Given the description of an element on the screen output the (x, y) to click on. 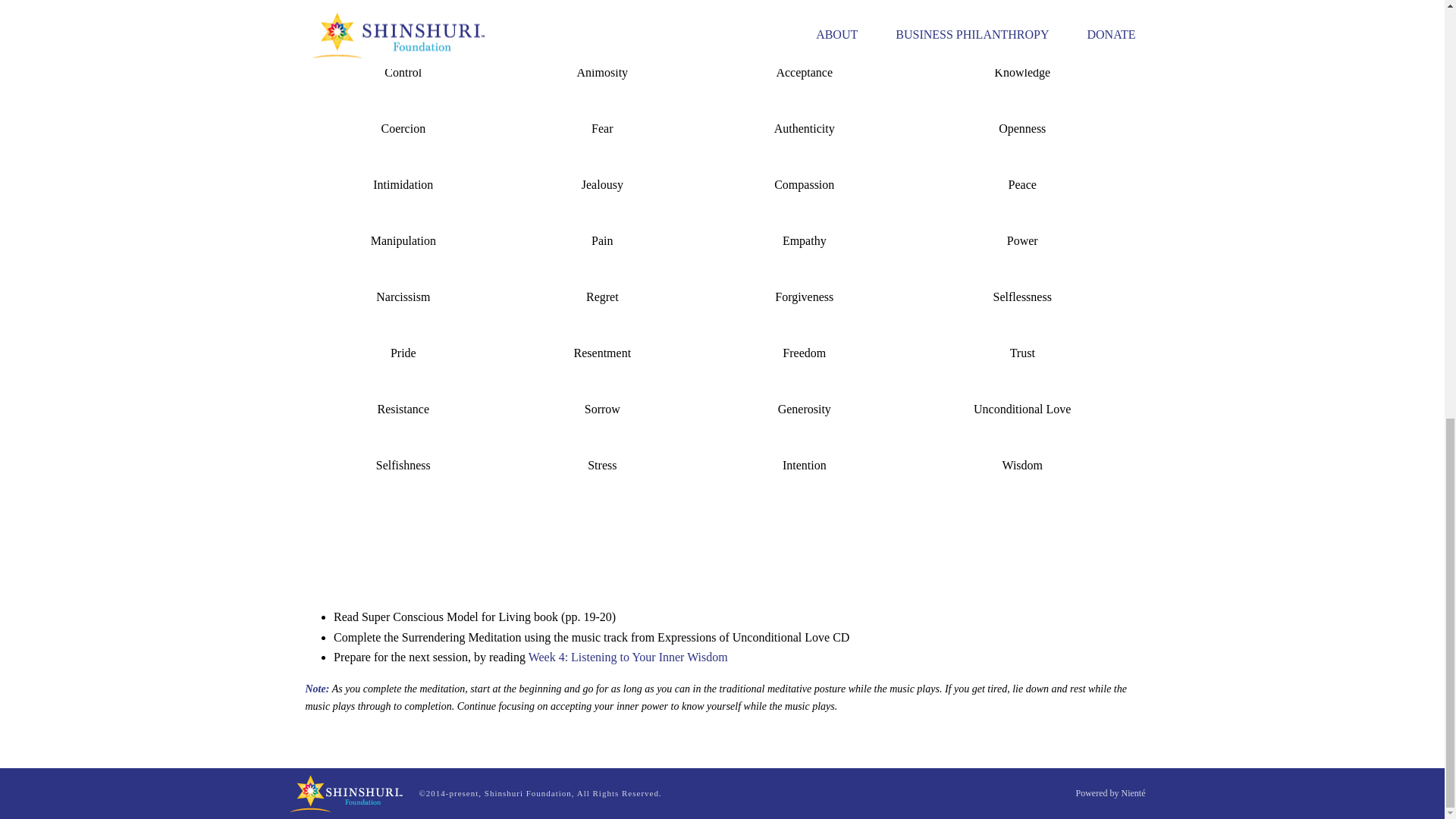
Week 4: Listening to Your Inner Wisdom (628, 656)
Shinshuri Foundation (346, 792)
Learn how to listen to your innate wisdom. (628, 656)
